Given the description of an element on the screen output the (x, y) to click on. 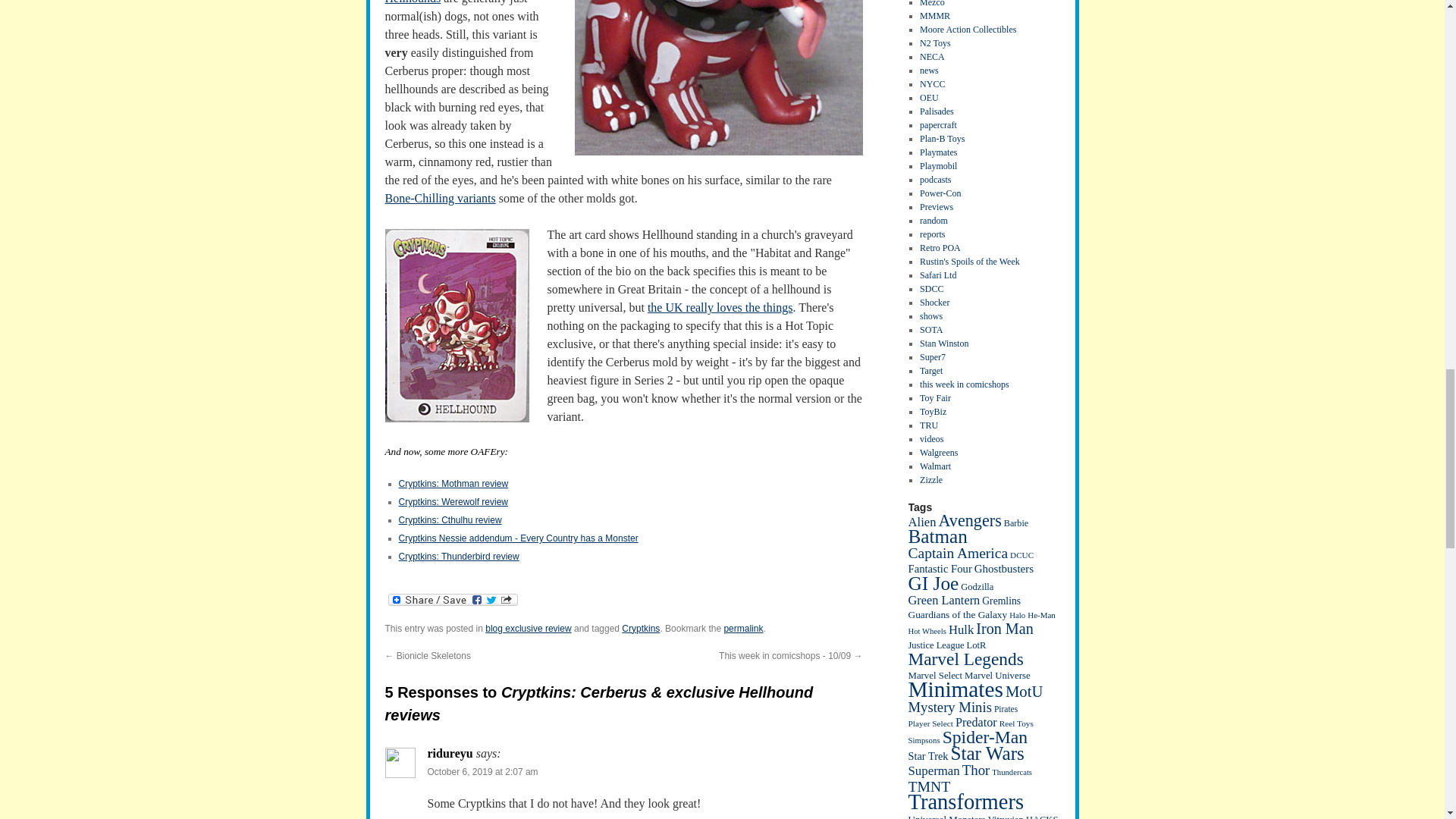
permalink (742, 628)
Cryptkins: Werewolf review (453, 501)
Hellhounds (413, 2)
blog exclusive review (527, 628)
Cryptkins: Thunderbird review (458, 556)
Cryptkins: Cthulhu review (450, 520)
the UK really loves the things (720, 307)
October 6, 2019 at 2:07 am (483, 771)
Cryptkins: Werewolf review (453, 501)
Cryptkins: Mothman review (453, 483)
so this is what Brexit has turned into (457, 325)
Cryptkins (640, 628)
Bone-Chilling variants (440, 197)
Cryptkins Nessie addendum - Every Country has a Monster (518, 538)
Cryptkins: Mothman review (453, 483)
